Given the description of an element on the screen output the (x, y) to click on. 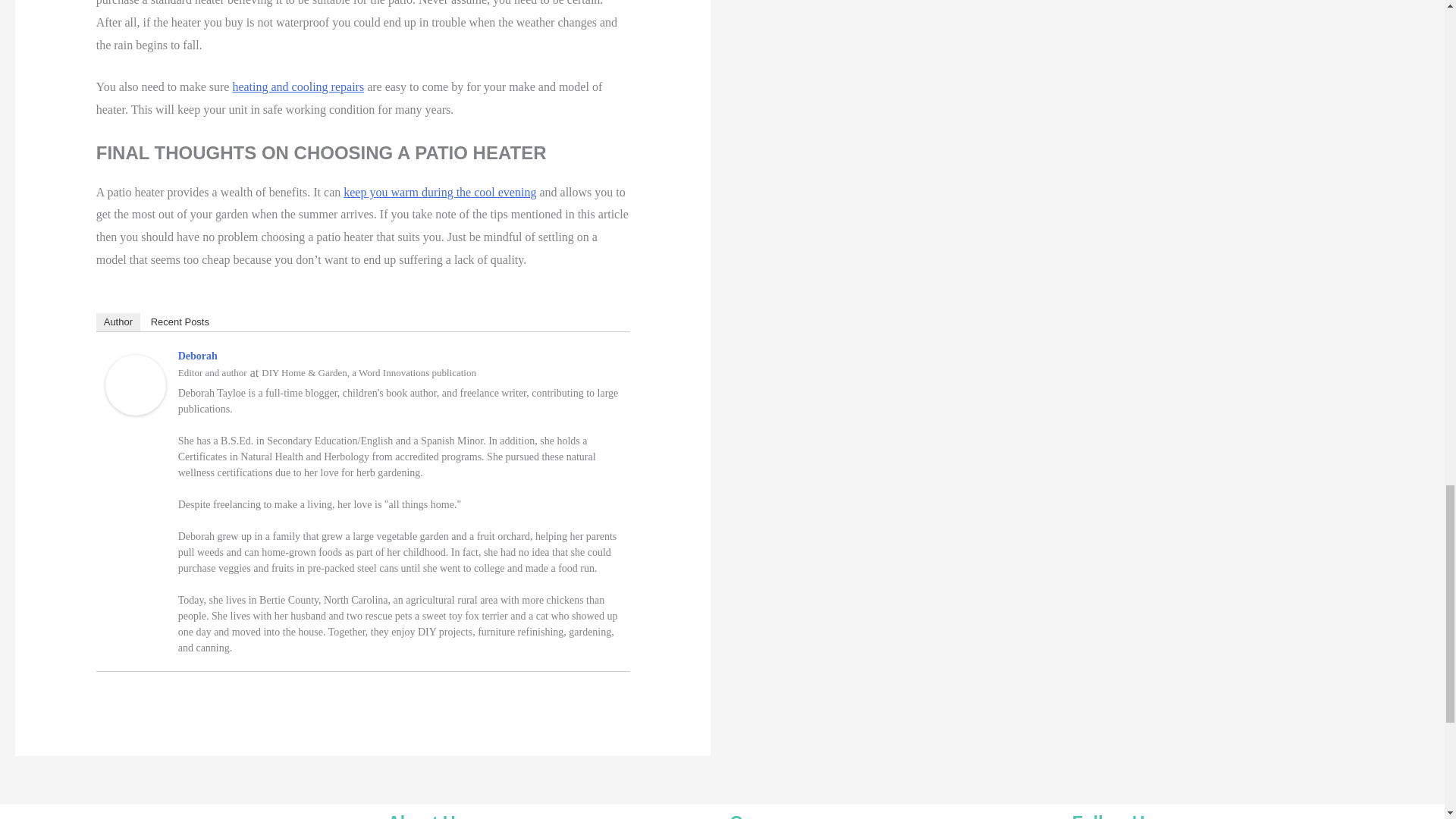
Deborah (196, 355)
Recent Posts (179, 321)
keep you warm during the cool evening (439, 192)
Author (117, 321)
heating and cooling repairs (297, 86)
Deborah (134, 383)
